Given the description of an element on the screen output the (x, y) to click on. 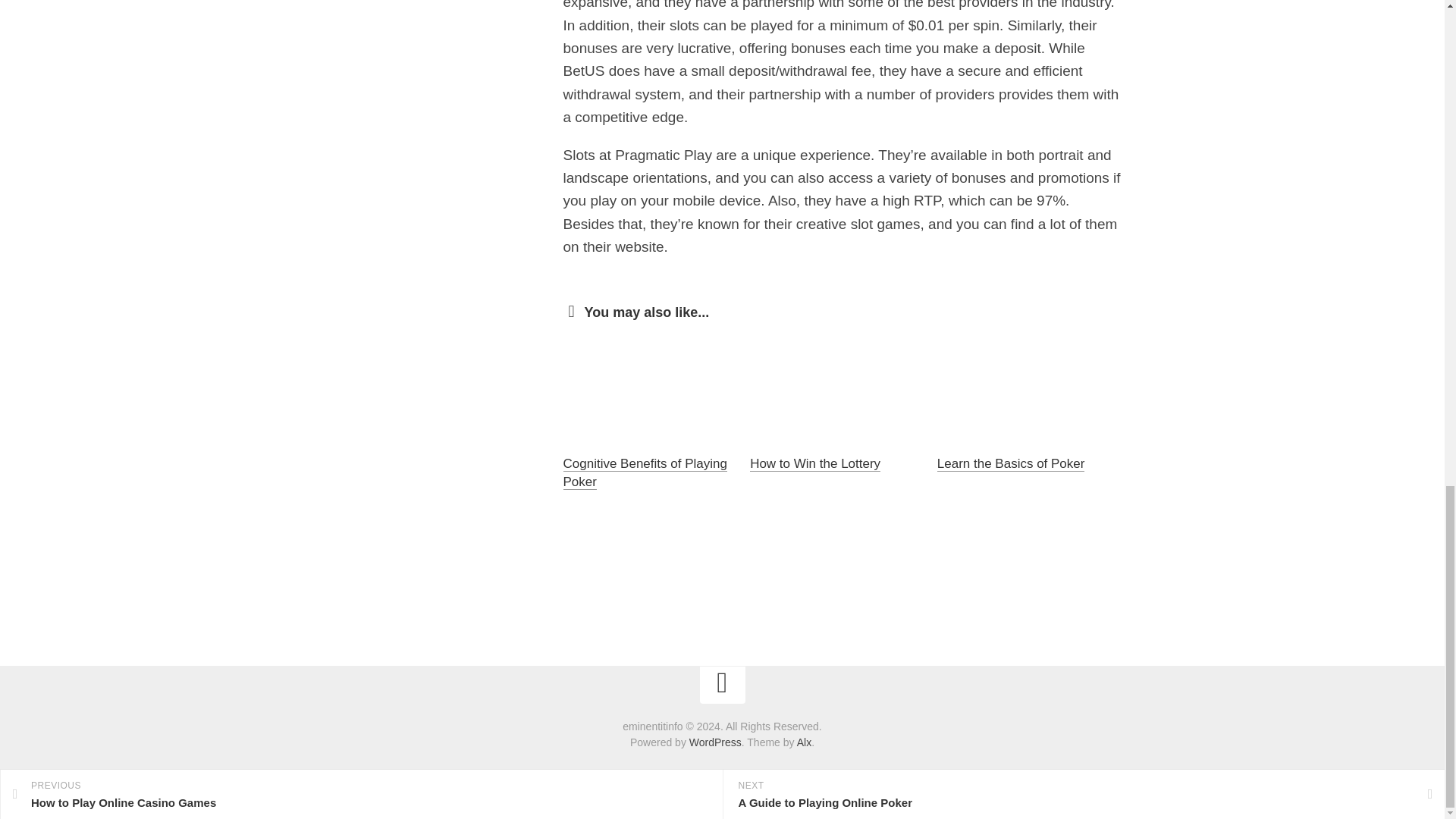
How to Win the Lottery (814, 463)
Cognitive Benefits of Playing Poker (644, 472)
Alx (803, 741)
WordPress (714, 741)
Learn the Basics of Poker (1010, 463)
